Given the description of an element on the screen output the (x, y) to click on. 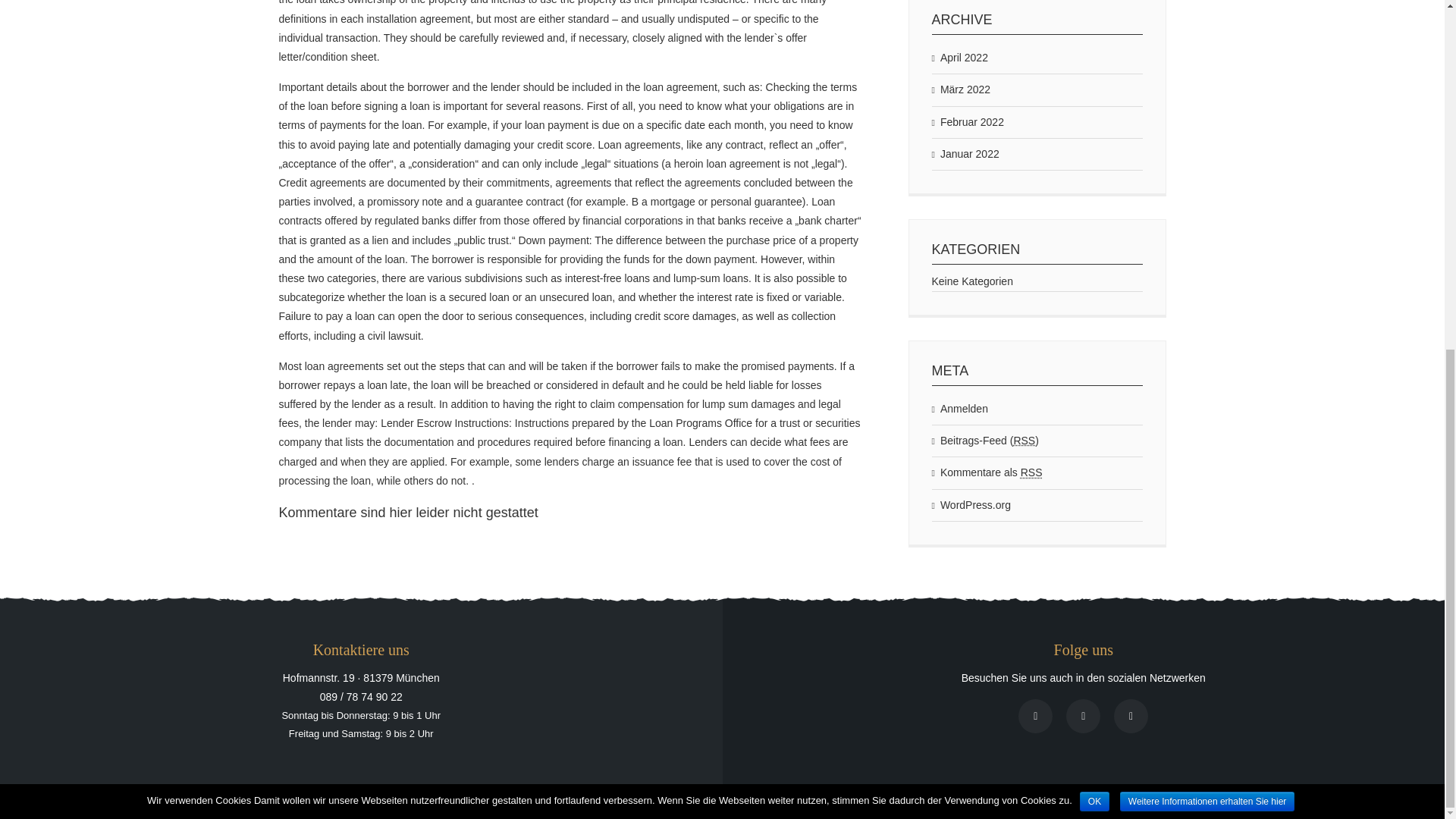
Weitere Informationen erhalten Sie hier (1207, 196)
Really Simple Syndication (1031, 472)
Februar 2022 (967, 121)
Kommentare als RSS (986, 472)
April 2022 (959, 57)
Anmelden (959, 409)
Januar 2022 (964, 153)
WordPress.org (970, 504)
Really Simple Syndication (1024, 440)
OK (1094, 196)
